Given the description of an element on the screen output the (x, y) to click on. 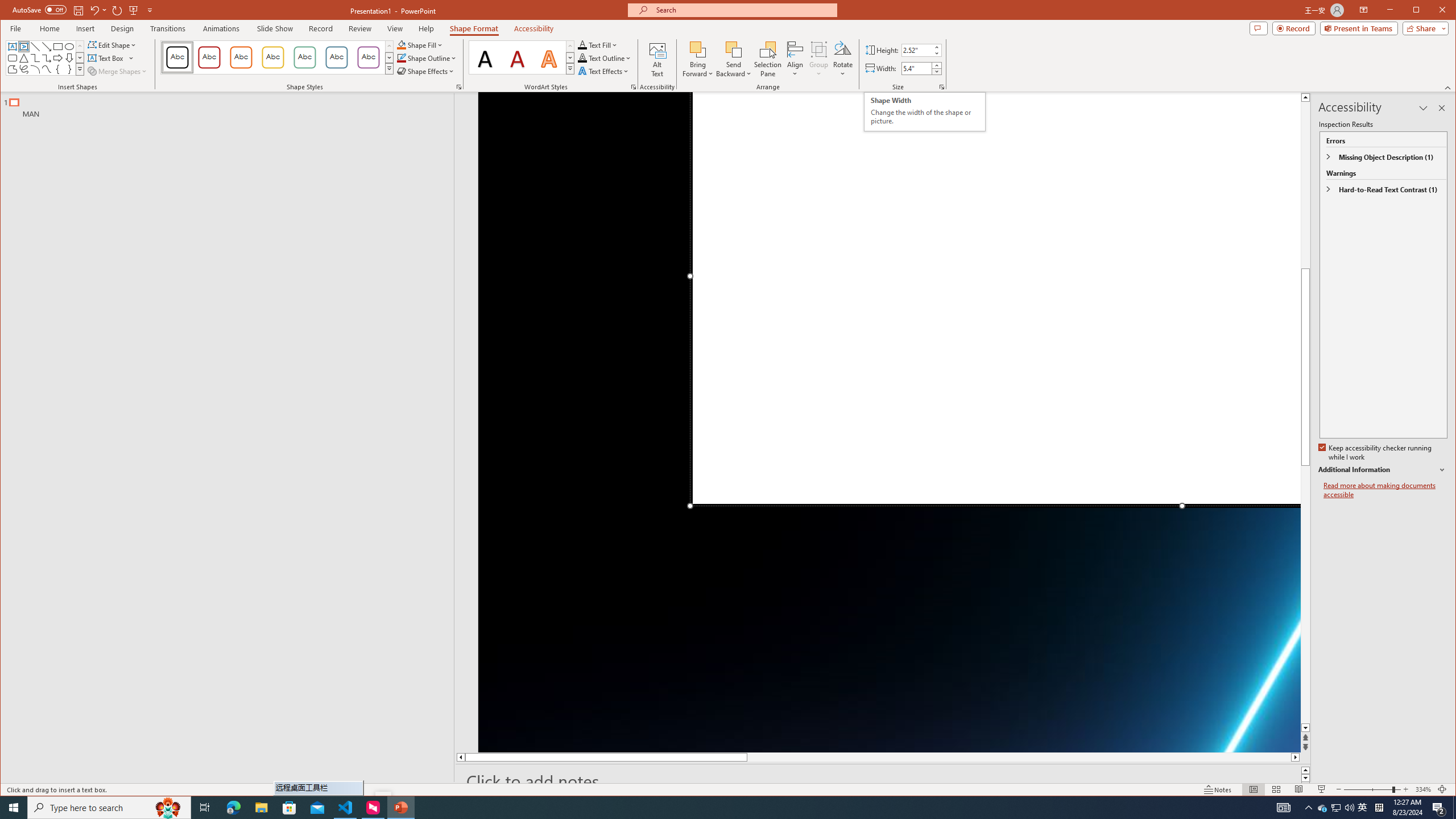
Text Fill RGB(0, 0, 0) (582, 44)
Edit Shape (112, 44)
Colored Outline - Dark Red, Accent 1 (209, 57)
